Given the description of an element on the screen output the (x, y) to click on. 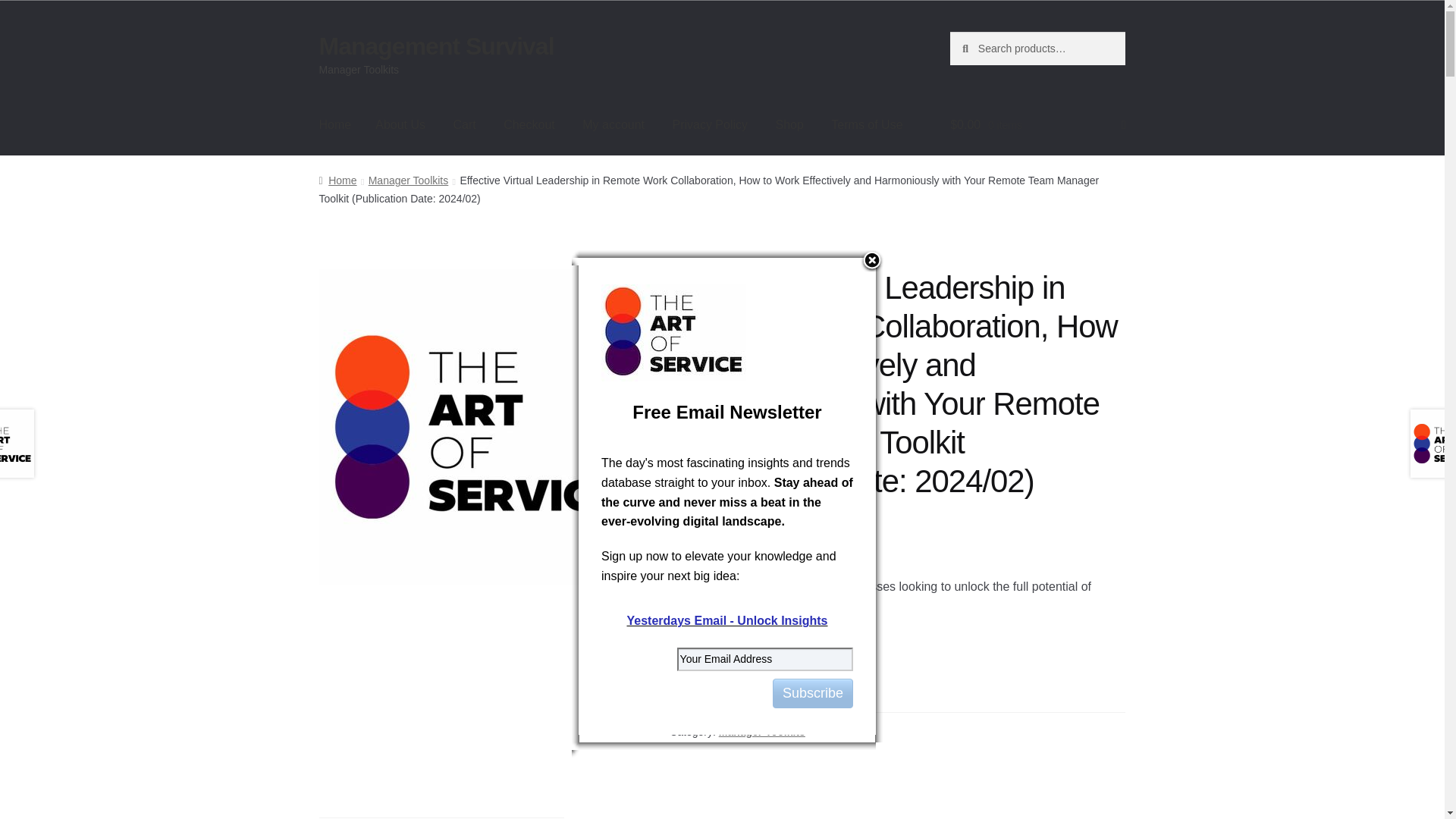
Subscribe (813, 693)
Home (335, 124)
Manager Toolkits (762, 731)
View your shopping cart (1037, 124)
Management Survival (436, 45)
Terms of Use (866, 124)
Privacy Policy (709, 124)
About Us (400, 124)
1 (694, 663)
Home (337, 180)
My account (613, 124)
Manager Toolkits (408, 180)
